Given the description of an element on the screen output the (x, y) to click on. 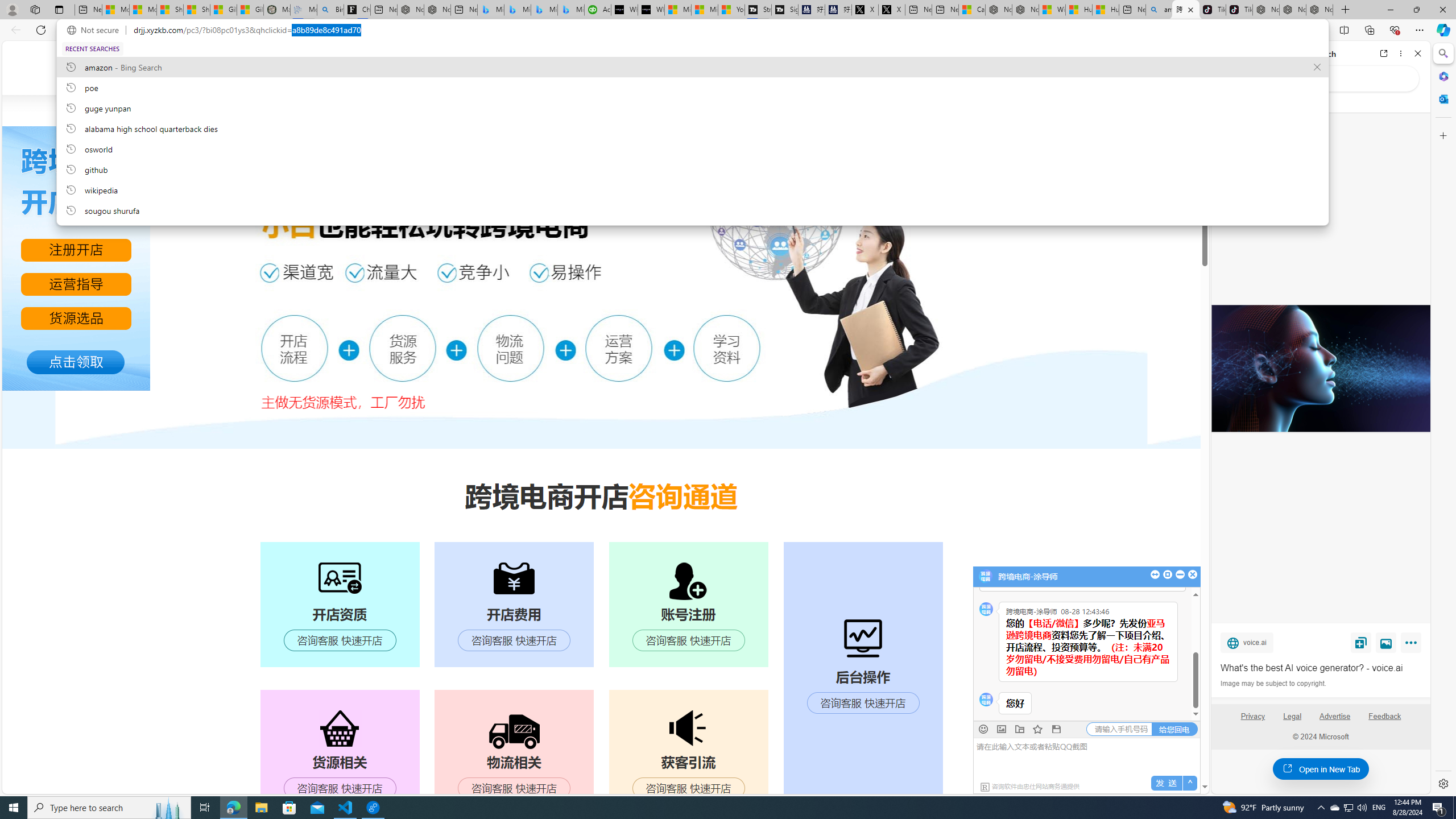
Legal (1292, 720)
Save (1361, 642)
poe, recent searches from history (691, 86)
